Given the description of an element on the screen output the (x, y) to click on. 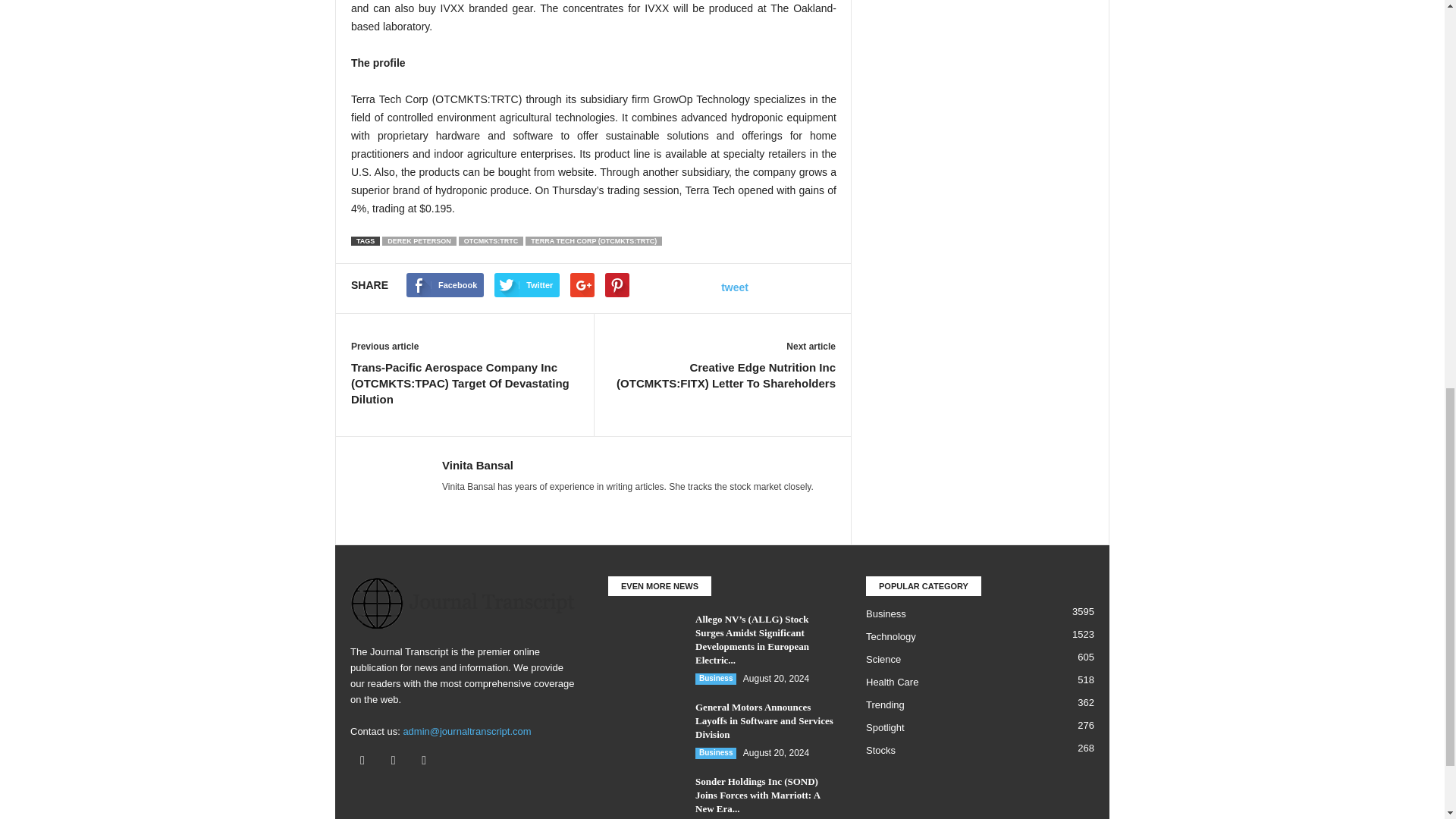
Youtube (425, 760)
Facebook (365, 760)
Twitter (396, 760)
